Given the description of an element on the screen output the (x, y) to click on. 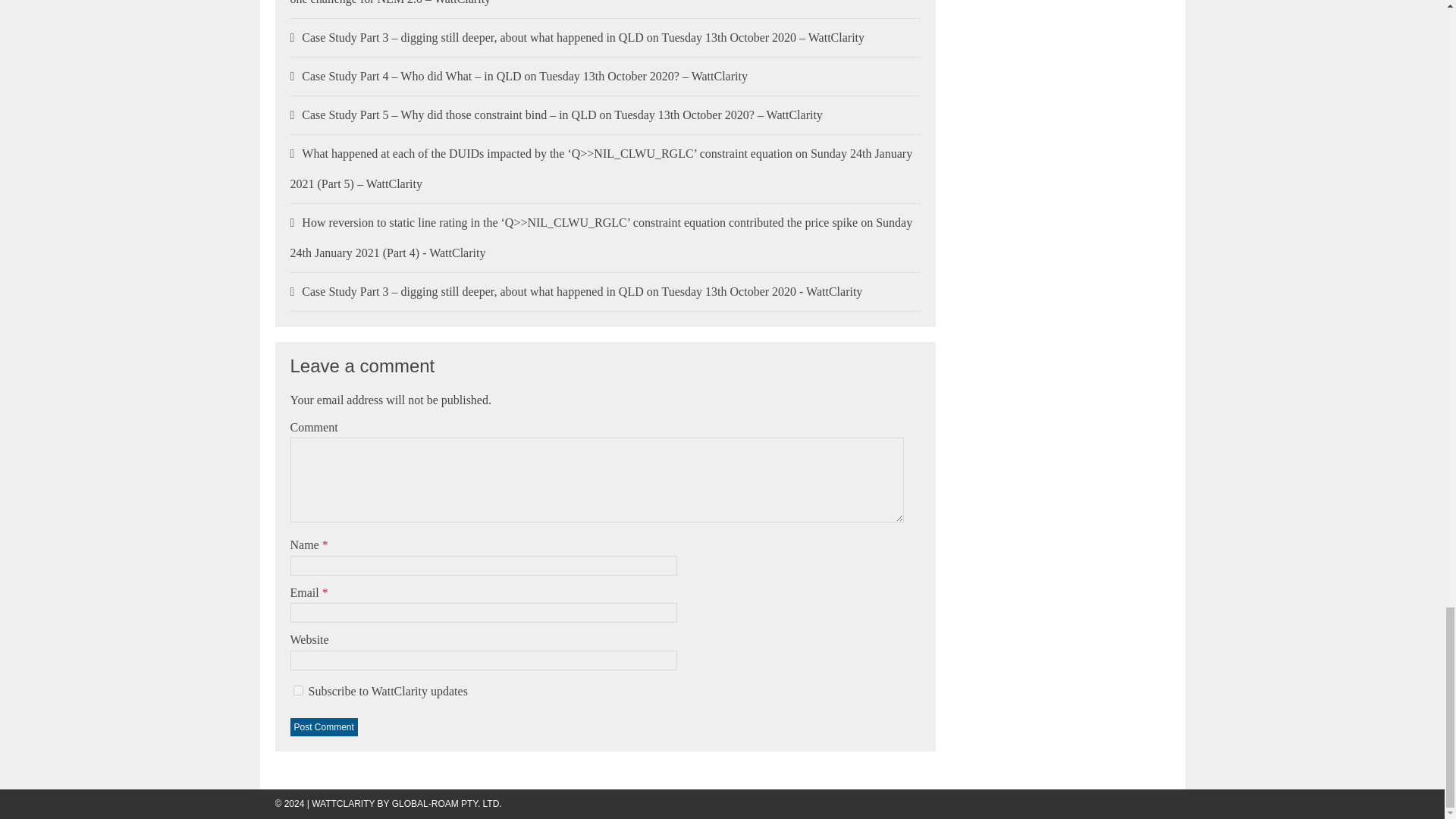
1 (297, 690)
Post Comment (322, 727)
